Given the description of an element on the screen output the (x, y) to click on. 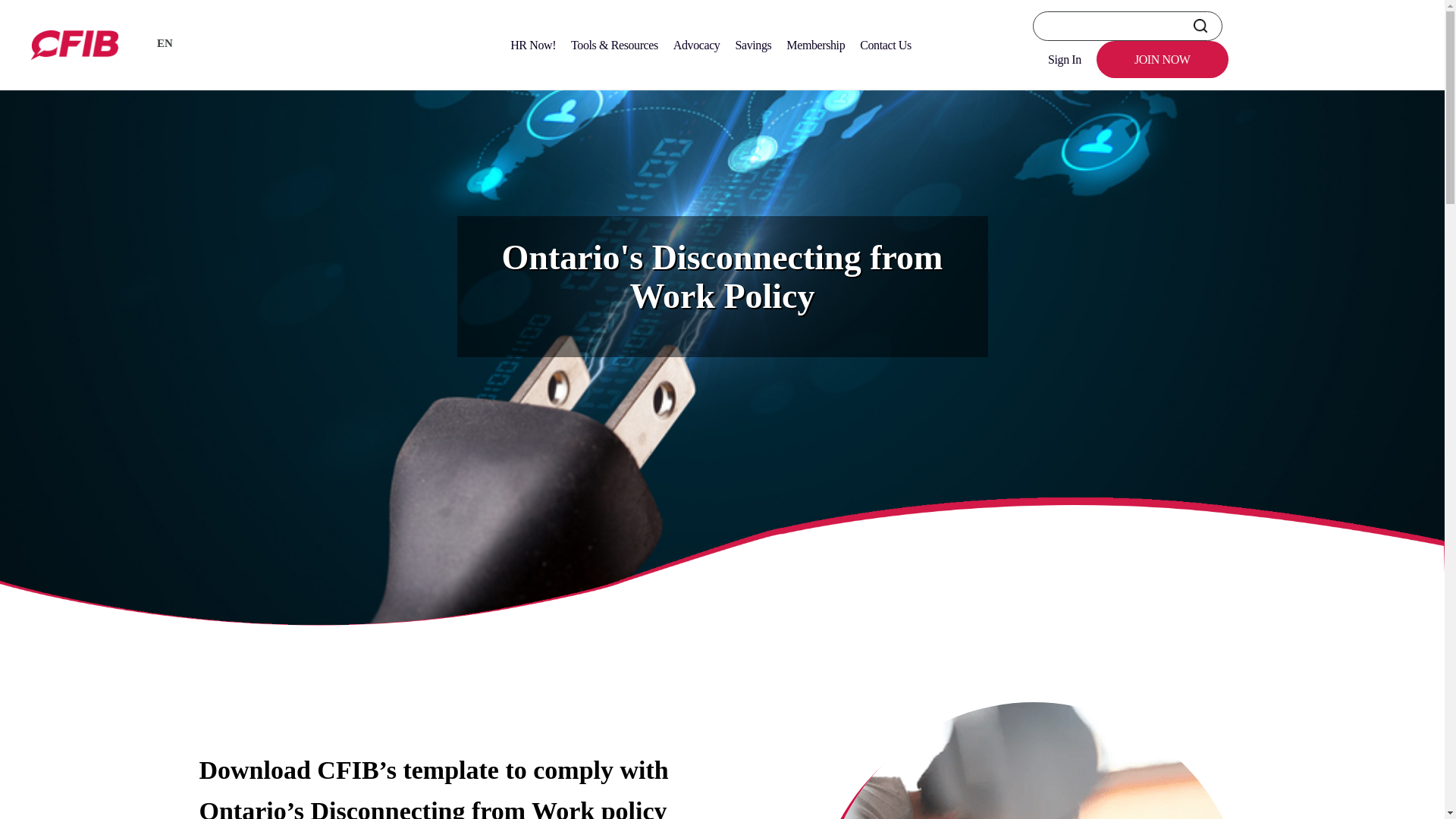
Search (1200, 25)
Advocacy (696, 44)
JOIN NOW (1162, 58)
Search (1200, 25)
Membership (814, 44)
HR Now! (532, 44)
Contact Us (884, 44)
Sign In (1064, 58)
Savings (752, 44)
